Given the description of an element on the screen output the (x, y) to click on. 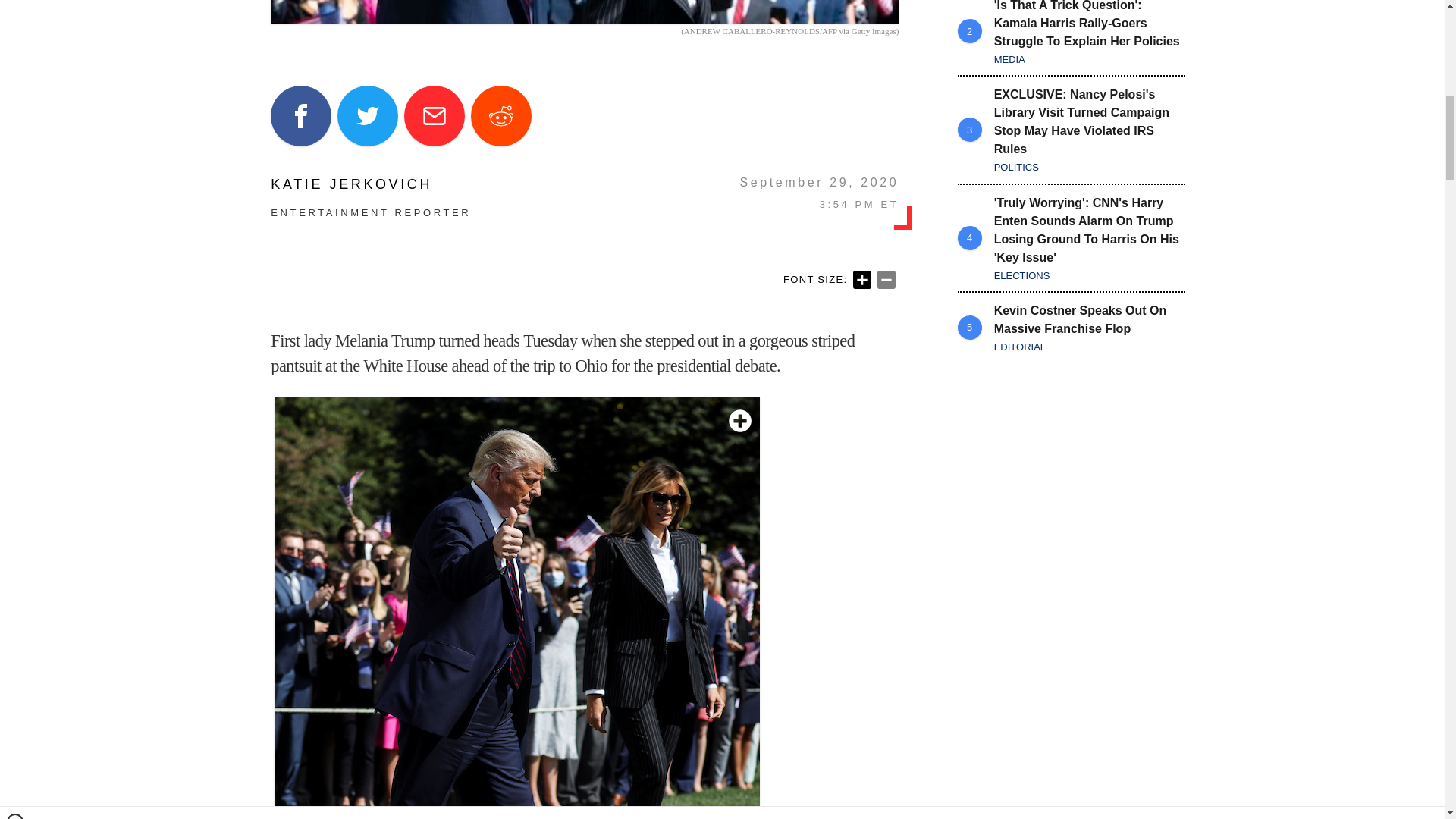
Close window (14, 6)
View More Articles By Katie Jerkovich (370, 184)
US-VOTE-TRUMP (584, 11)
KATIE JERKOVICH (370, 184)
